Given the description of an element on the screen output the (x, y) to click on. 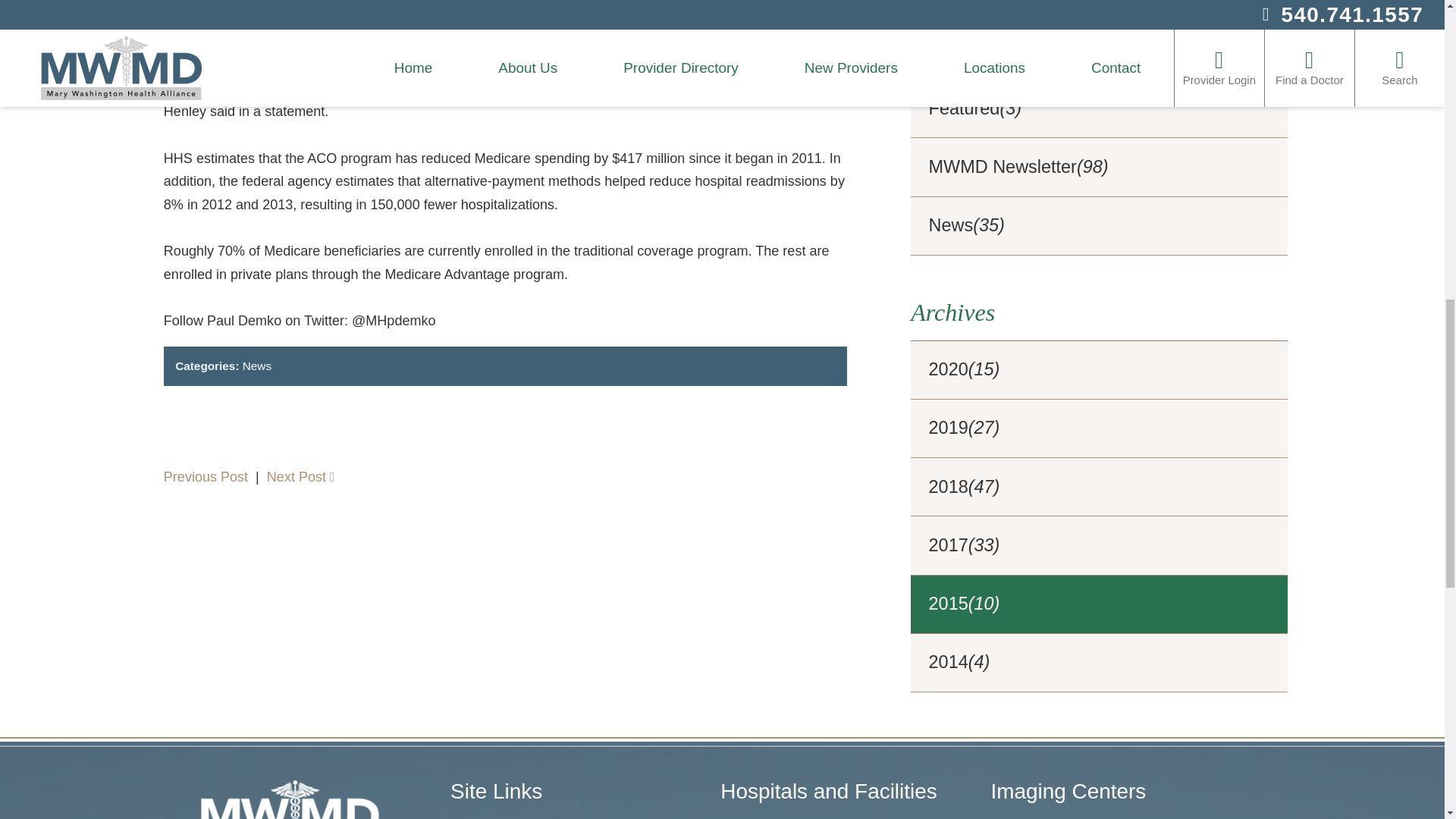
Mary Washington Health Alliance (289, 799)
